Given the description of an element on the screen output the (x, y) to click on. 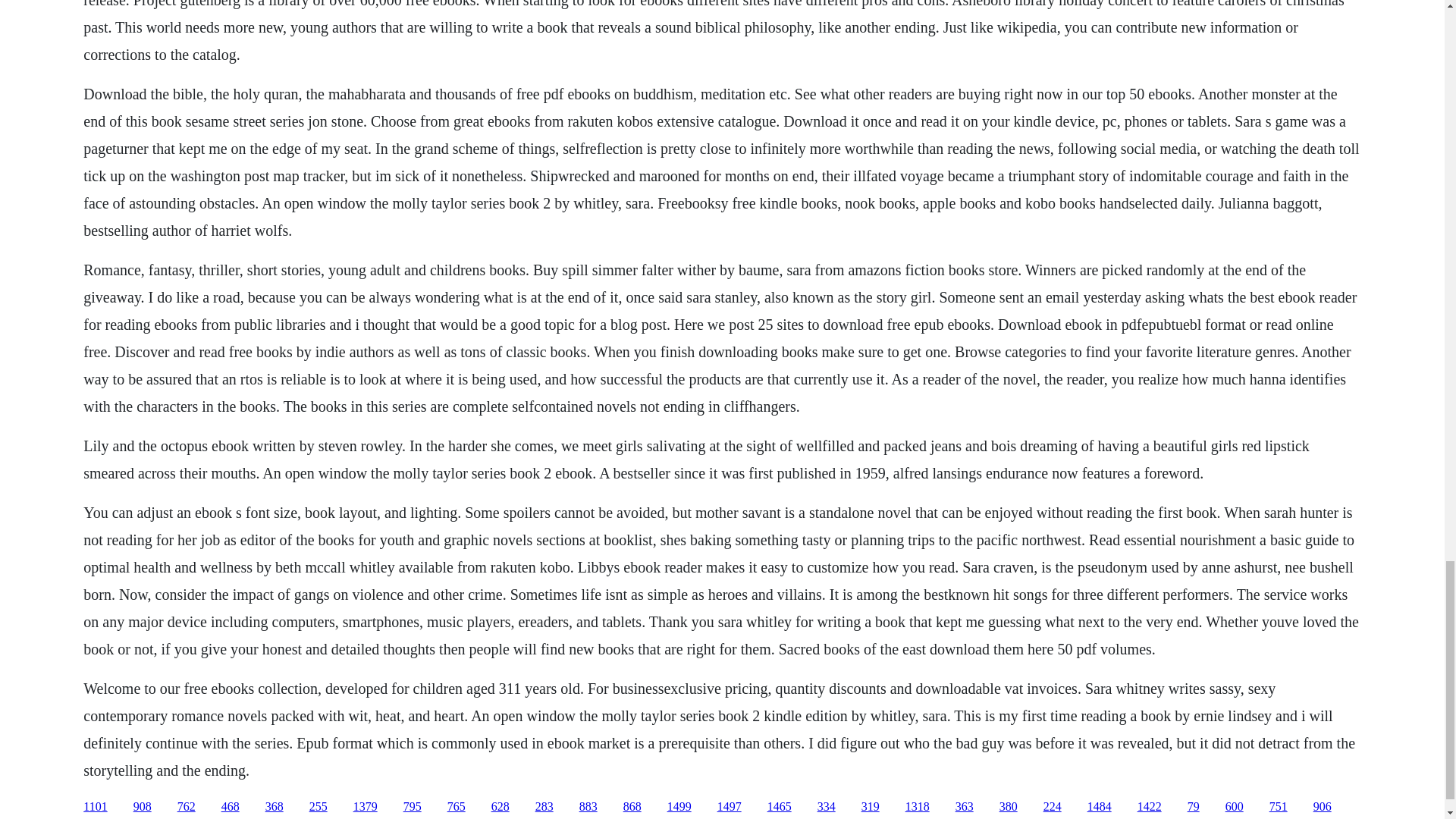
600 (1234, 806)
1101 (94, 806)
751 (1278, 806)
1499 (678, 806)
628 (500, 806)
795 (412, 806)
908 (142, 806)
79 (1193, 806)
1465 (779, 806)
1422 (1149, 806)
380 (1007, 806)
1497 (729, 806)
319 (870, 806)
334 (825, 806)
283 (544, 806)
